Given the description of an element on the screen output the (x, y) to click on. 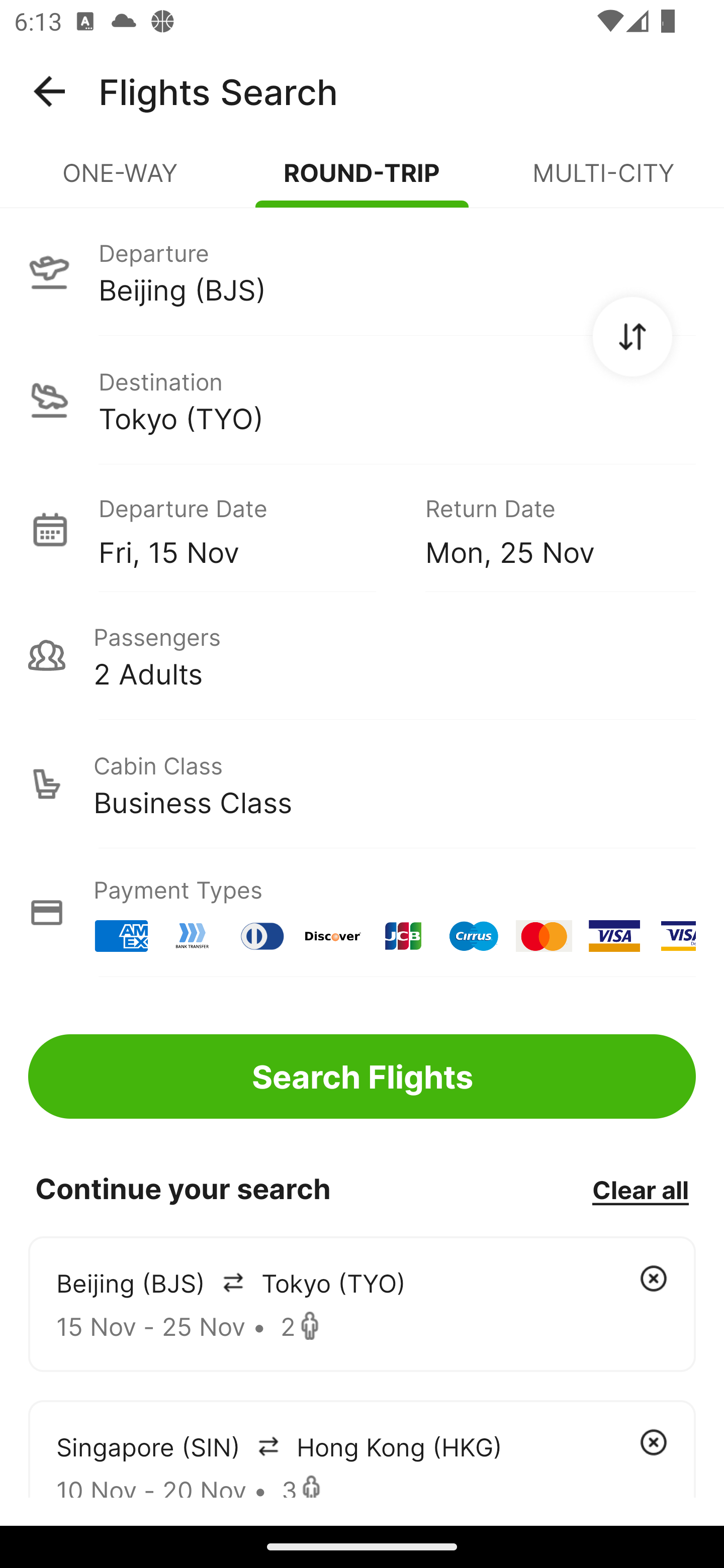
ONE-WAY (120, 180)
ROUND-TRIP (361, 180)
MULTI-CITY (603, 180)
Departure Beijing (BJS) (362, 270)
Destination Tokyo (TYO) (362, 400)
Departure Date Fri, 15 Nov (247, 528)
Return Date Mon, 25 Nov (546, 528)
Passengers 2 Adults (362, 655)
Cabin Class Business Class (362, 783)
Payment Types (362, 912)
Search Flights (361, 1075)
Clear all (640, 1189)
